Given the description of an element on the screen output the (x, y) to click on. 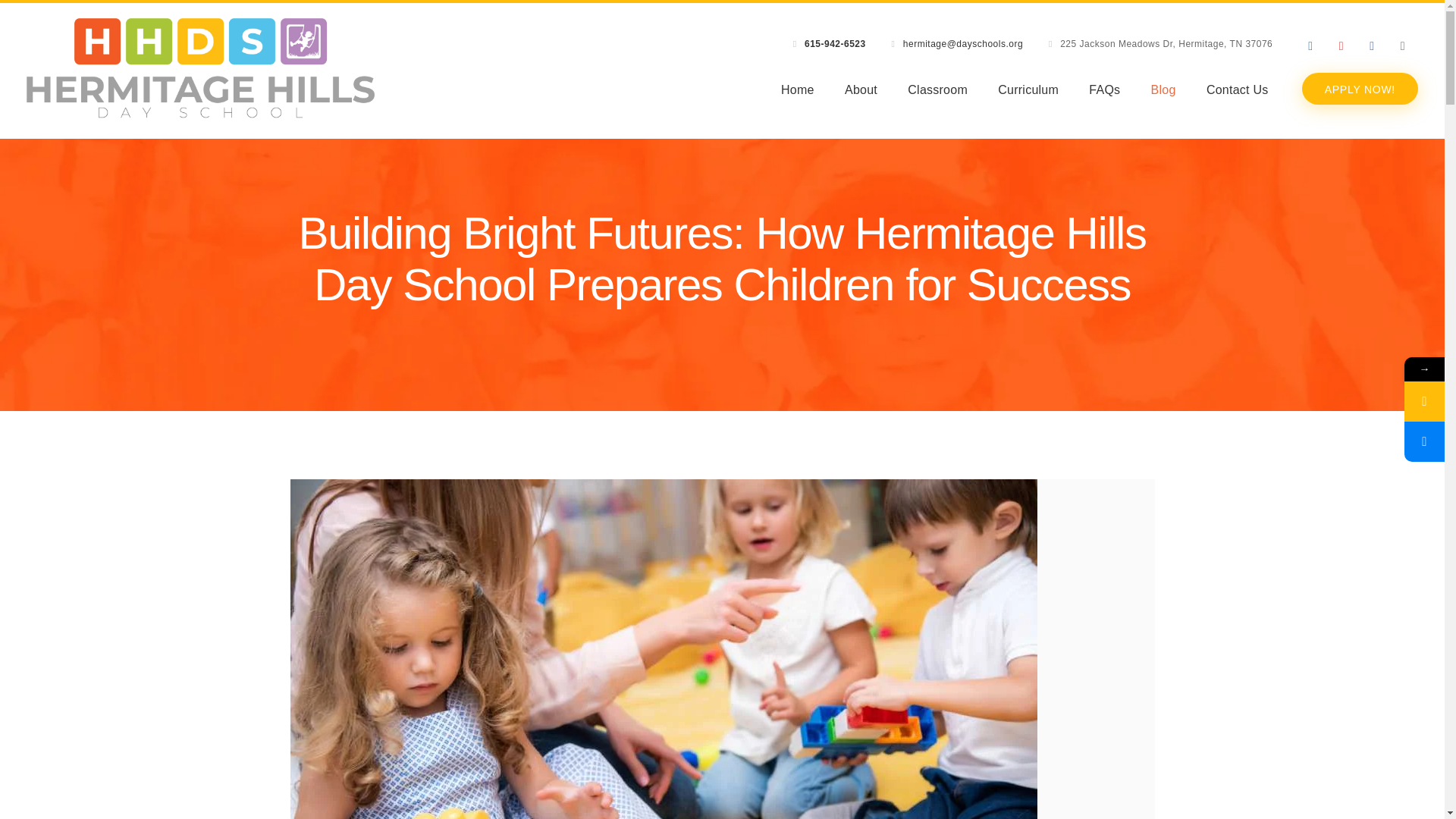
Contact Us (1237, 90)
About (860, 90)
Curriculum (1027, 90)
615-942-6523 (835, 43)
Home (796, 90)
FAQs (1104, 90)
Classroom (937, 90)
APPLY NOW! (1359, 88)
